Given the description of an element on the screen output the (x, y) to click on. 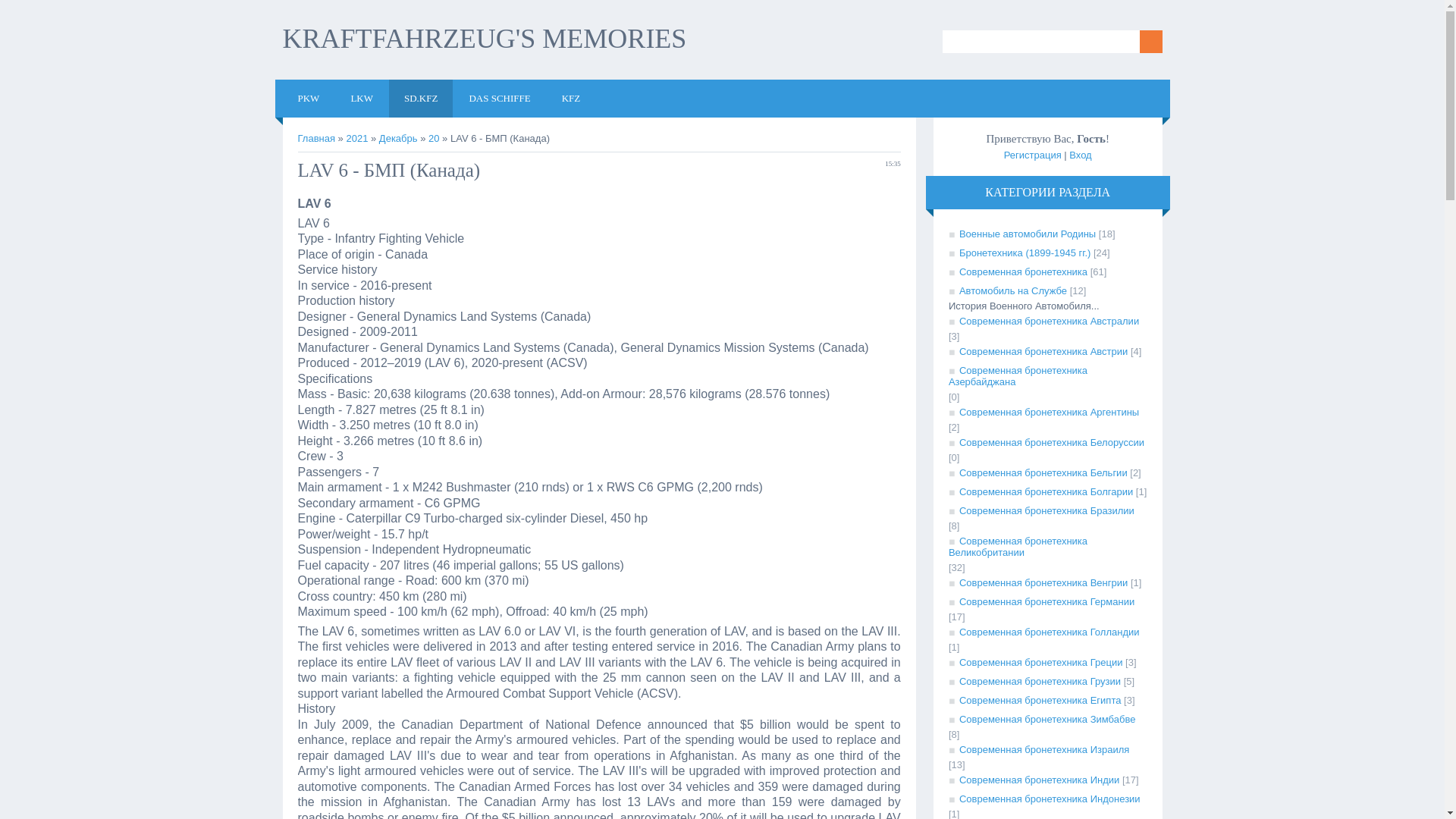
PKW (308, 98)
LKW (361, 98)
KRAFTFAHRZEUG'S MEMORIES (483, 38)
SD.KFZ (420, 98)
